Given the description of an element on the screen output the (x, y) to click on. 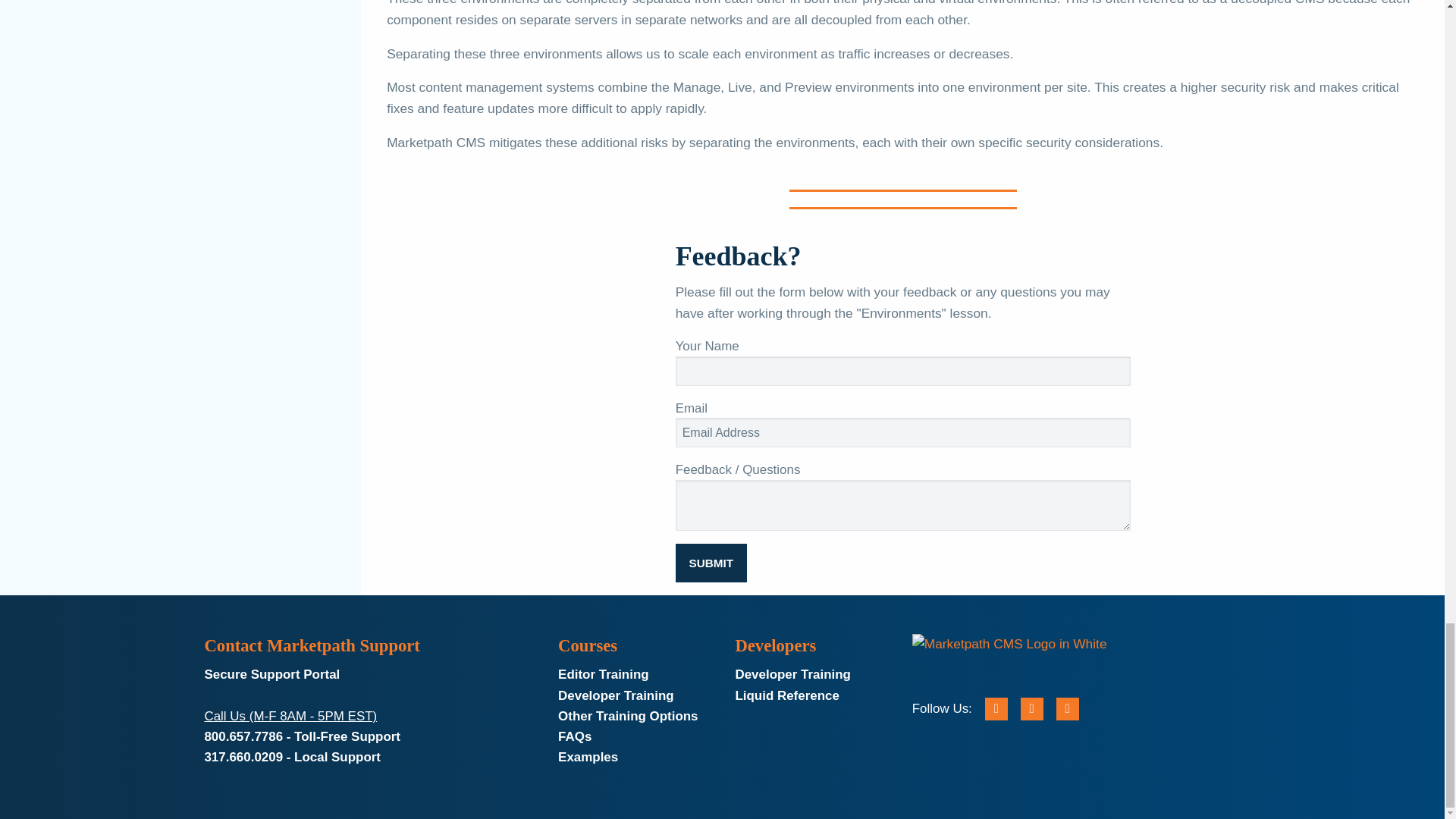
Developer Basic Training Course (614, 695)
Liquid Documentation Overview (786, 695)
FAQ's (574, 736)
Secure Support Portal (271, 674)
SUBMIT (711, 562)
Liquid Reference (786, 695)
Developer Training (792, 674)
Developer Basic Training Course (792, 674)
Marketpath Customer Support Portal (271, 674)
800.657.7786 - Toll-Free Support (301, 736)
Developer Training (614, 695)
Examples (587, 757)
317.660.0209 - Local Support (291, 757)
Examples (587, 757)
Marketpath CMS Training Options (627, 716)
